Given the description of an element on the screen output the (x, y) to click on. 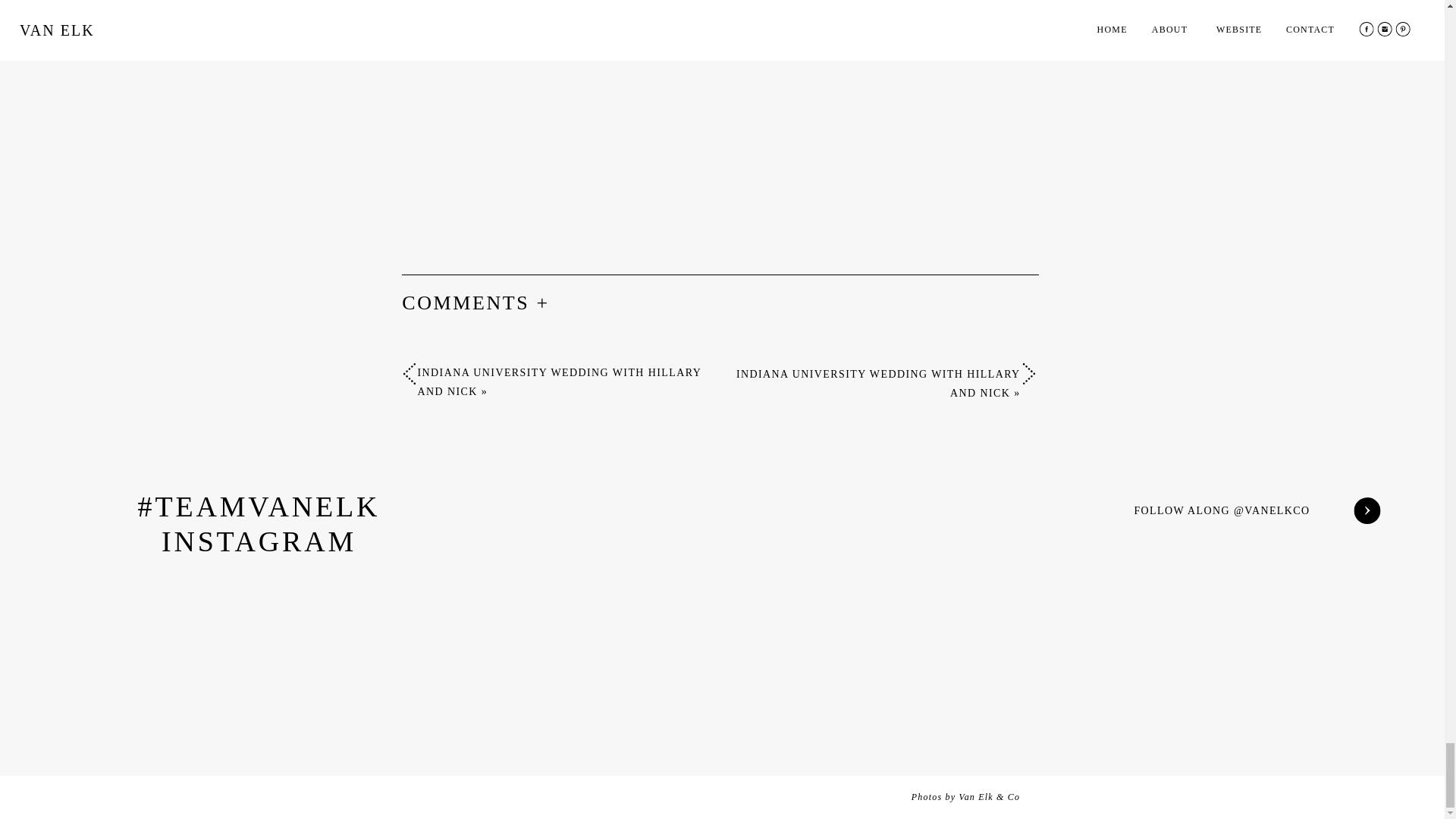
INDIANA UNIVERSITY WEDDING WITH HILLARY AND NICK (878, 383)
INDIANA UNIVERSITY WEDDING WITH HILLARY AND NICK (558, 381)
